Given the description of an element on the screen output the (x, y) to click on. 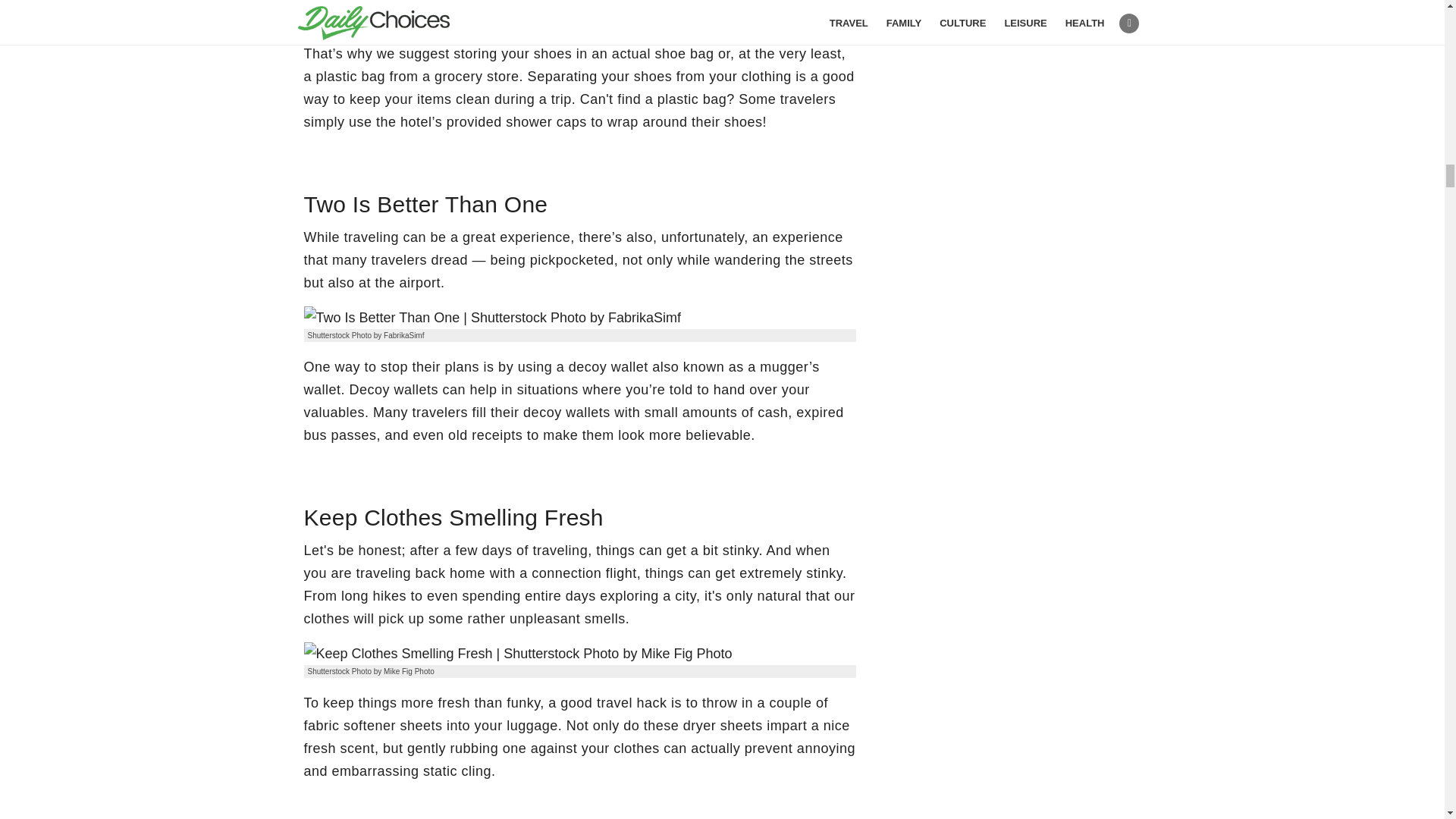
Two Is Better Than One (491, 317)
Keep Clothes Smelling Fresh (517, 653)
Ick-Free Travel (484, 7)
